Given the description of an element on the screen output the (x, y) to click on. 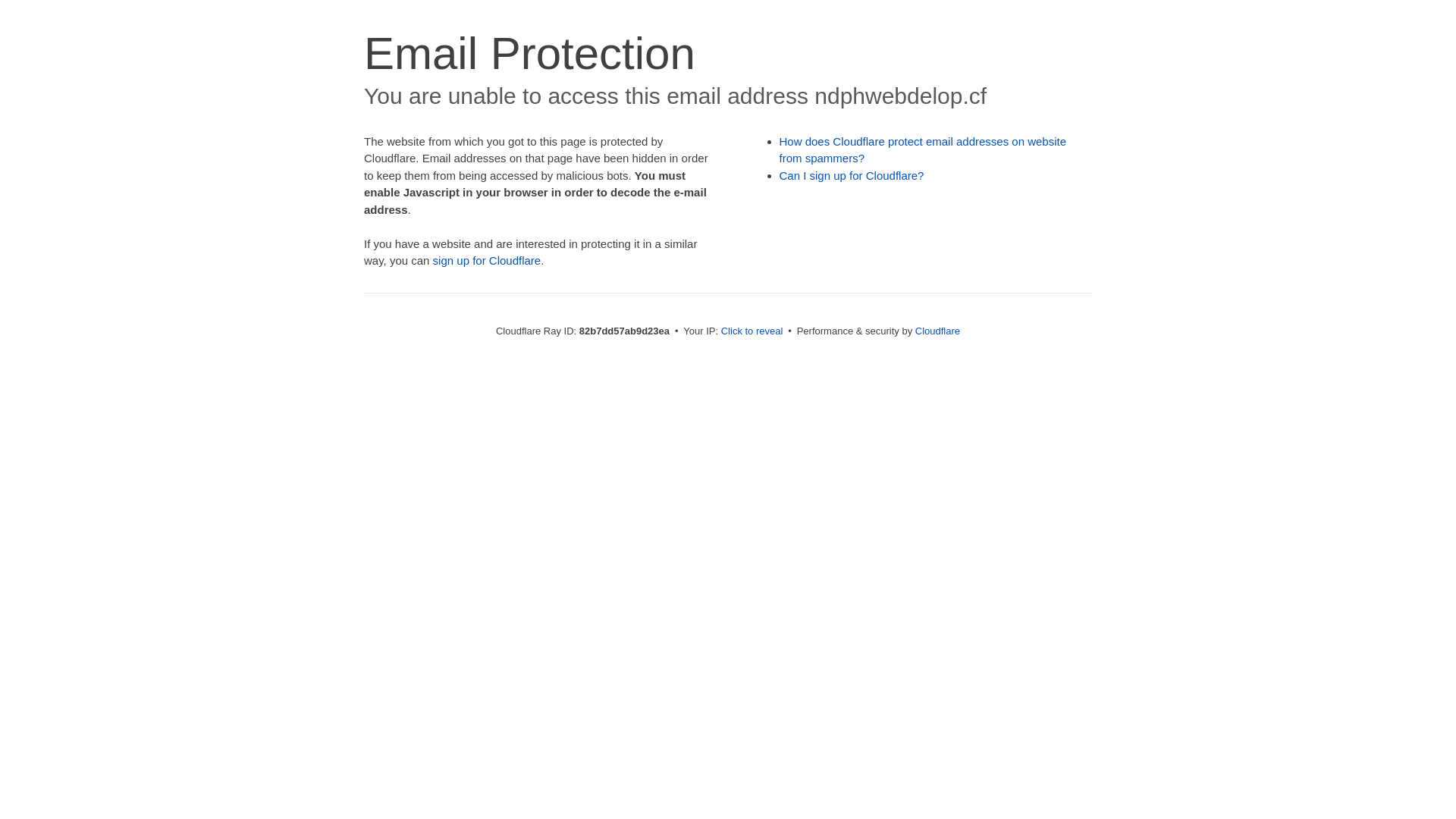
sign up for Cloudflare Element type: text (487, 260)
Can I sign up for Cloudflare? Element type: text (851, 175)
Click to reveal Element type: text (752, 330)
Cloudflare Element type: text (937, 330)
